Given the description of an element on the screen output the (x, y) to click on. 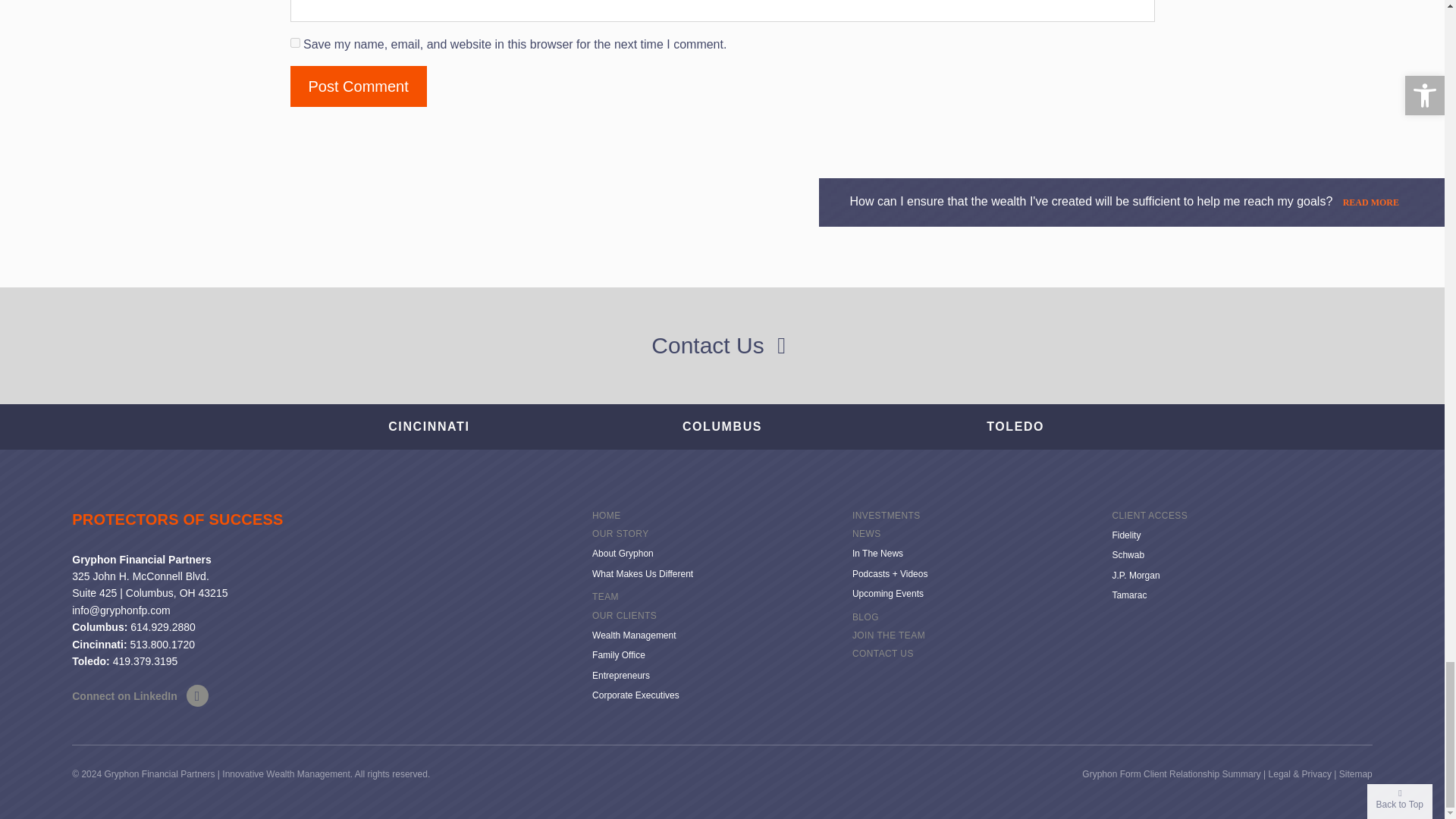
yes (294, 42)
Post Comment (357, 86)
